Given the description of an element on the screen output the (x, y) to click on. 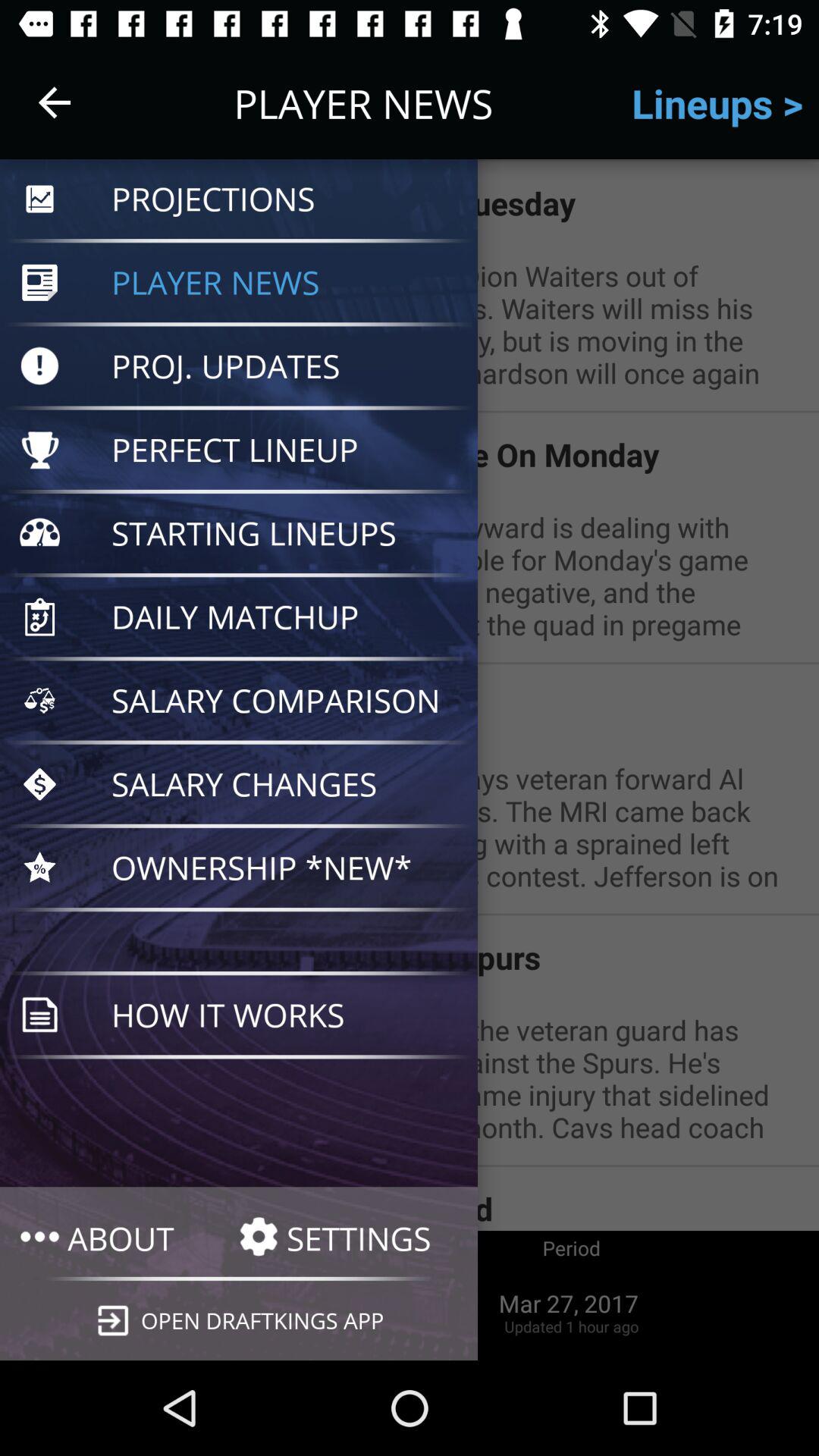
click on the settings (348, 1237)
